Given the description of an element on the screen output the (x, y) to click on. 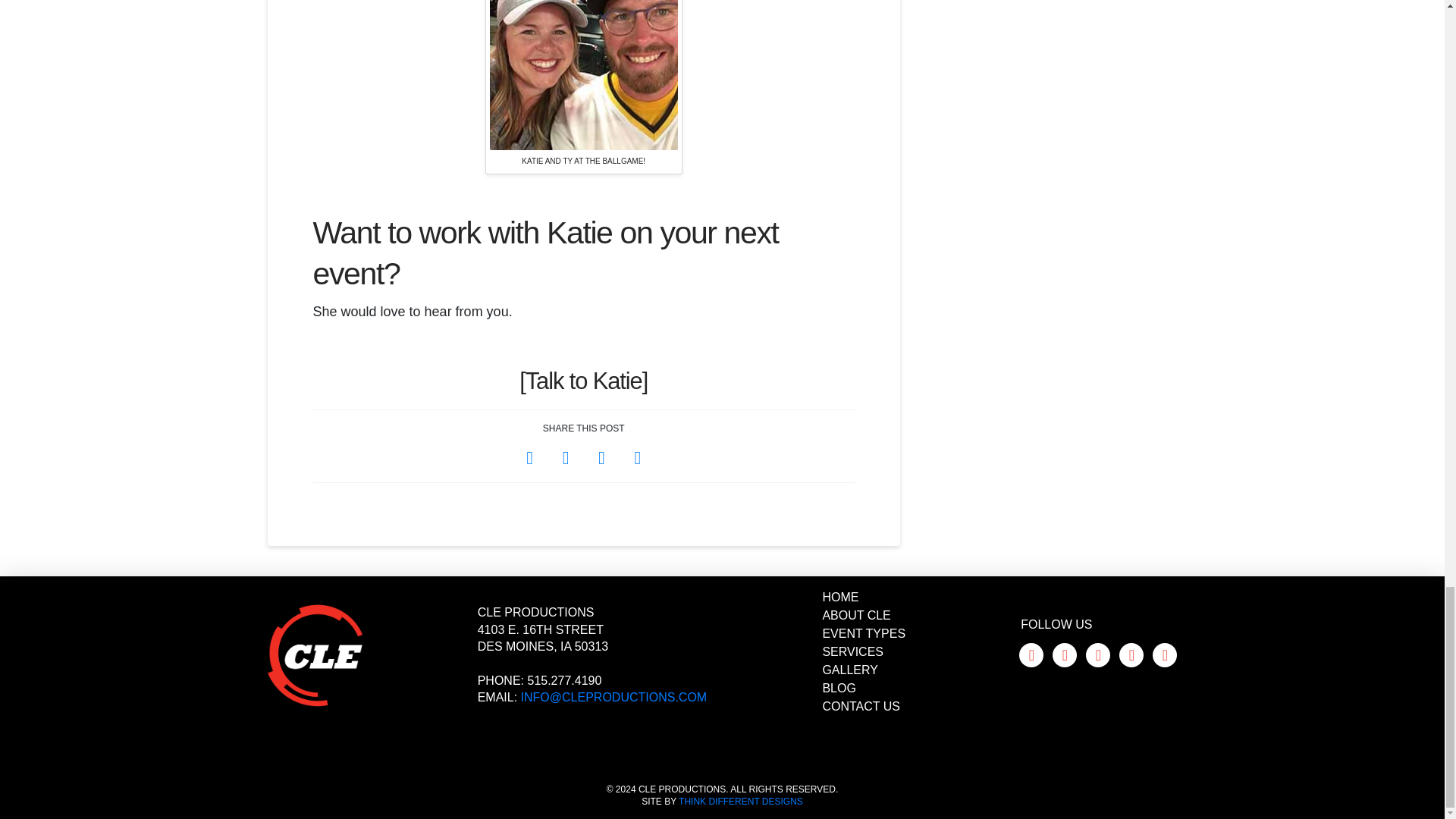
Share on LinkedIn (601, 457)
Share on X (565, 457)
Talk to Katie (583, 380)
Share on Facebook (529, 457)
Share via Email (636, 457)
